Given the description of an element on the screen output the (x, y) to click on. 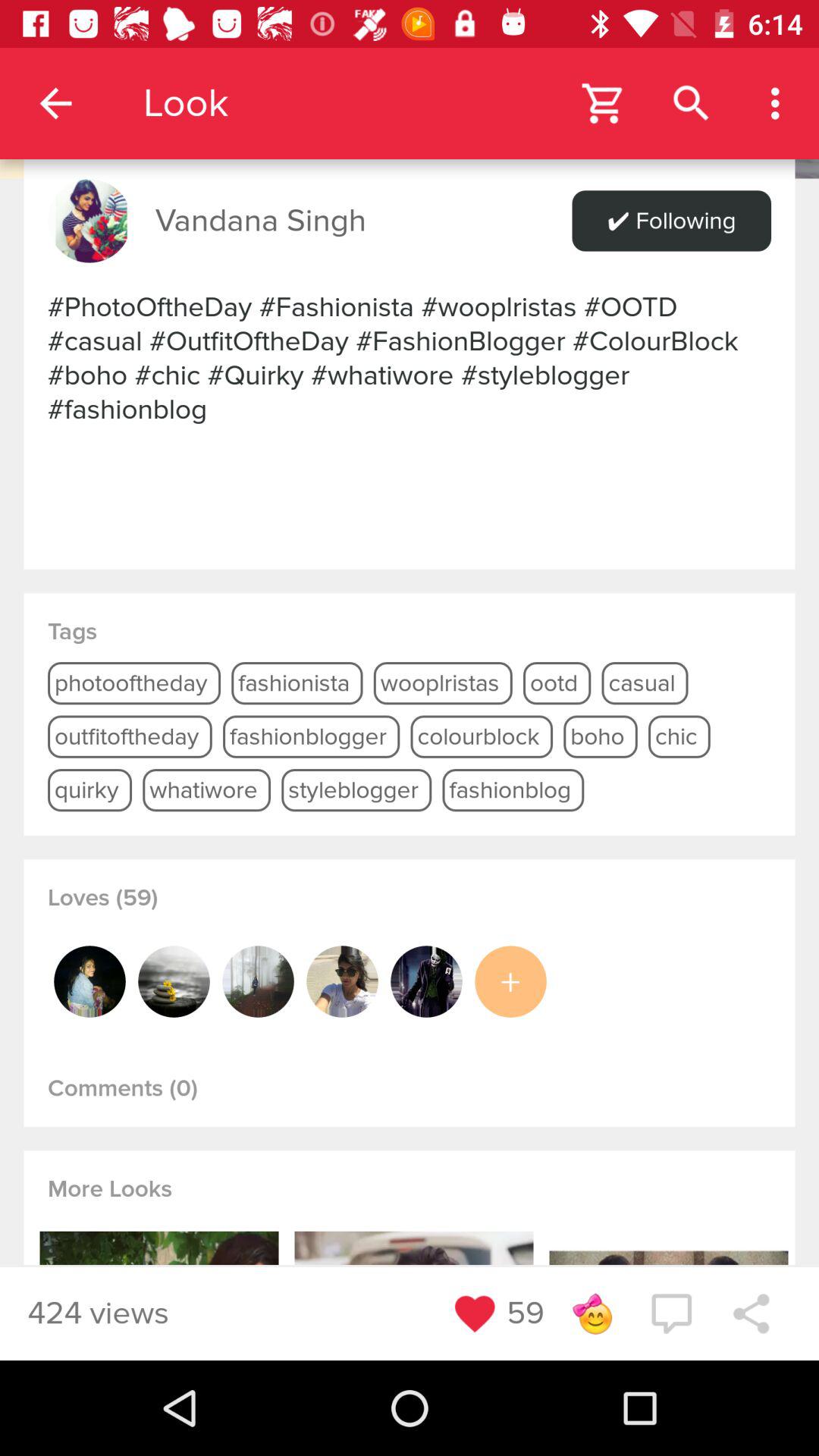
toggle profile (89, 981)
